Given the description of an element on the screen output the (x, y) to click on. 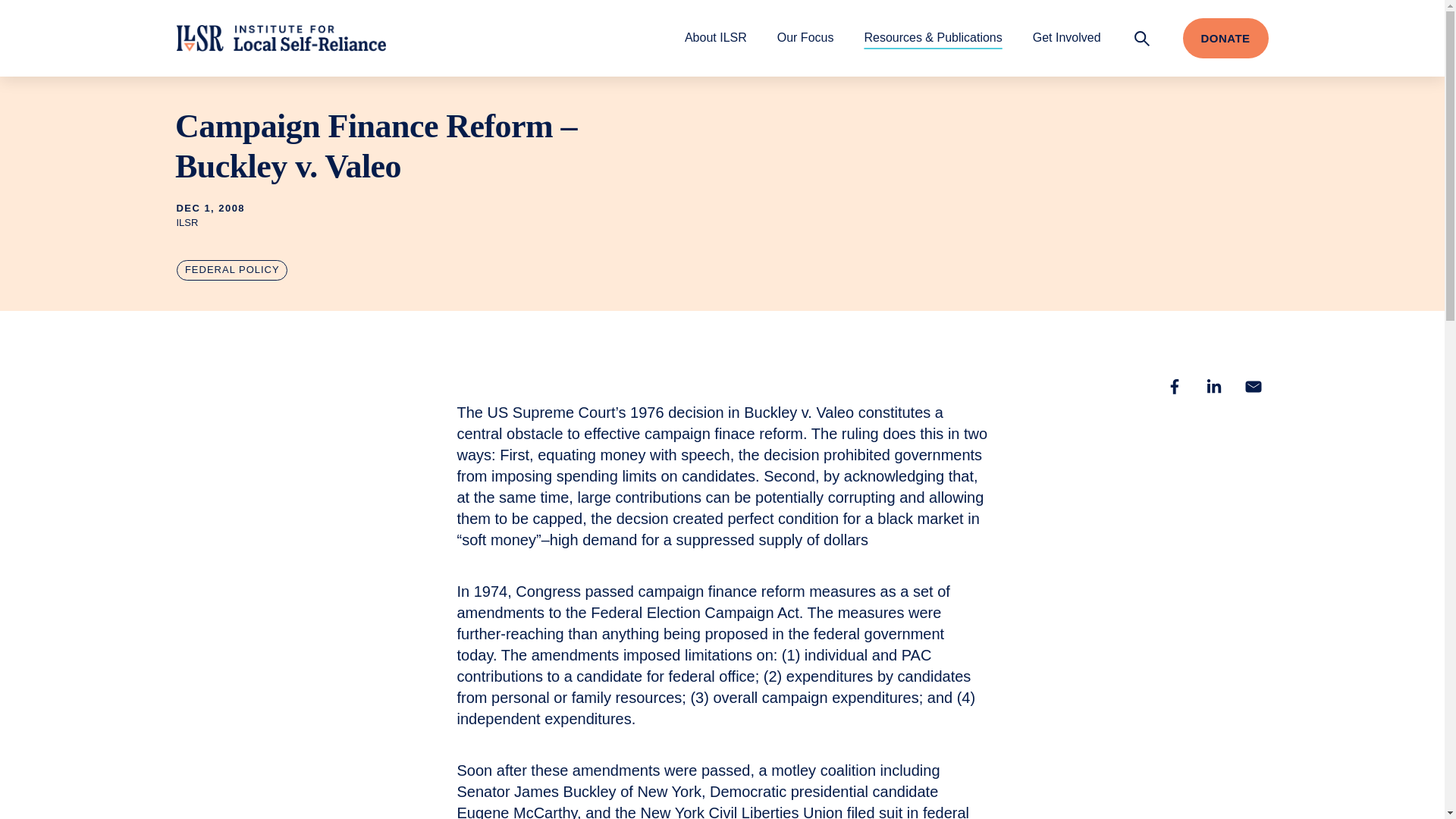
DONATE (1225, 38)
FEDERAL POLICY (231, 270)
LINKEDIN (1213, 386)
Our Focus (805, 37)
About ILSR (715, 37)
FACEBOOK (1173, 386)
Get Involved (1066, 37)
ILSR (280, 38)
EMAIL (1252, 386)
